Given the description of an element on the screen output the (x, y) to click on. 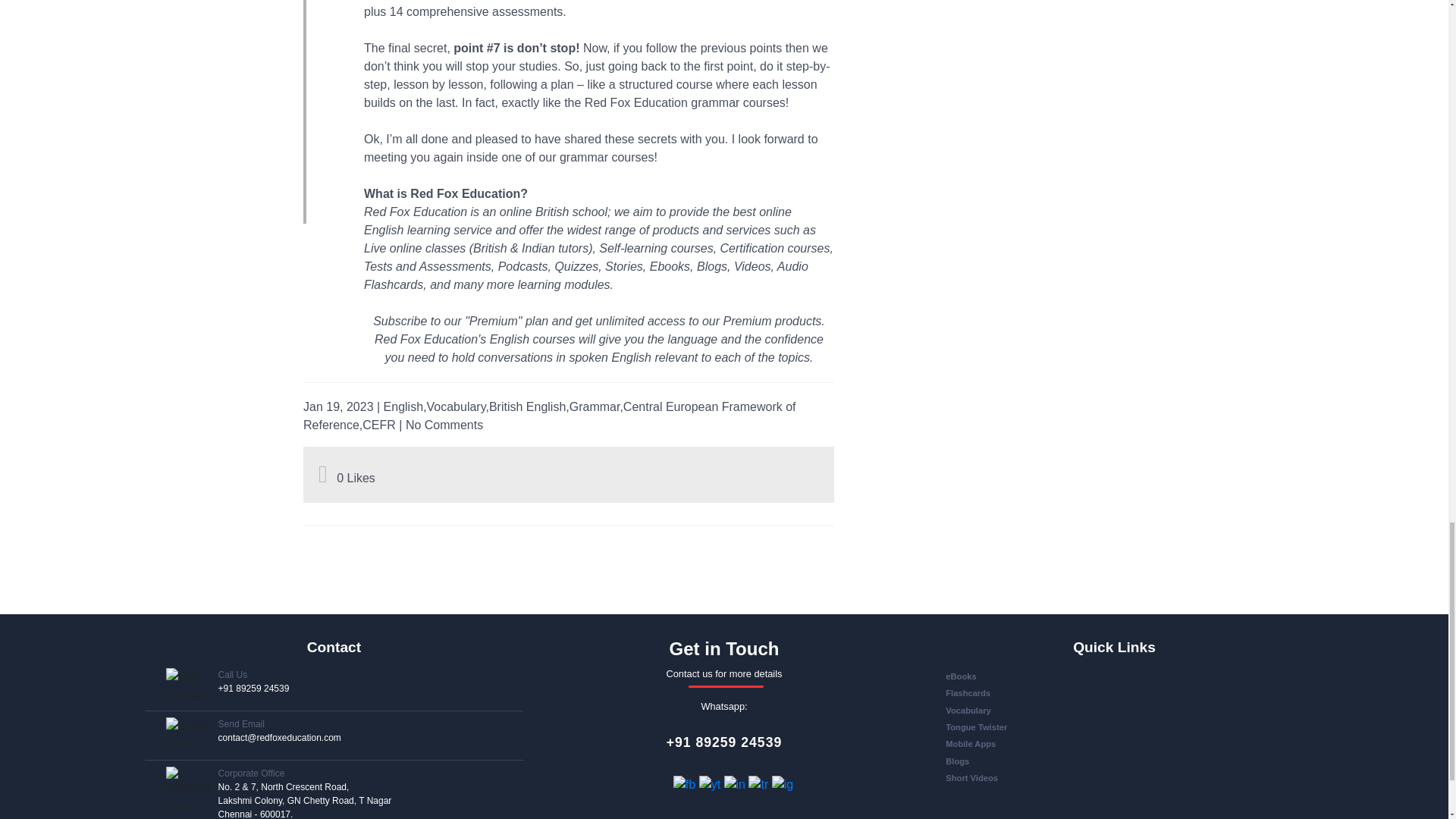
Twitter (759, 783)
Please Login to Continue (324, 477)
Youtube (710, 783)
Instagram (782, 783)
Facebook (685, 783)
LinkedIn (736, 783)
